Given the description of an element on the screen output the (x, y) to click on. 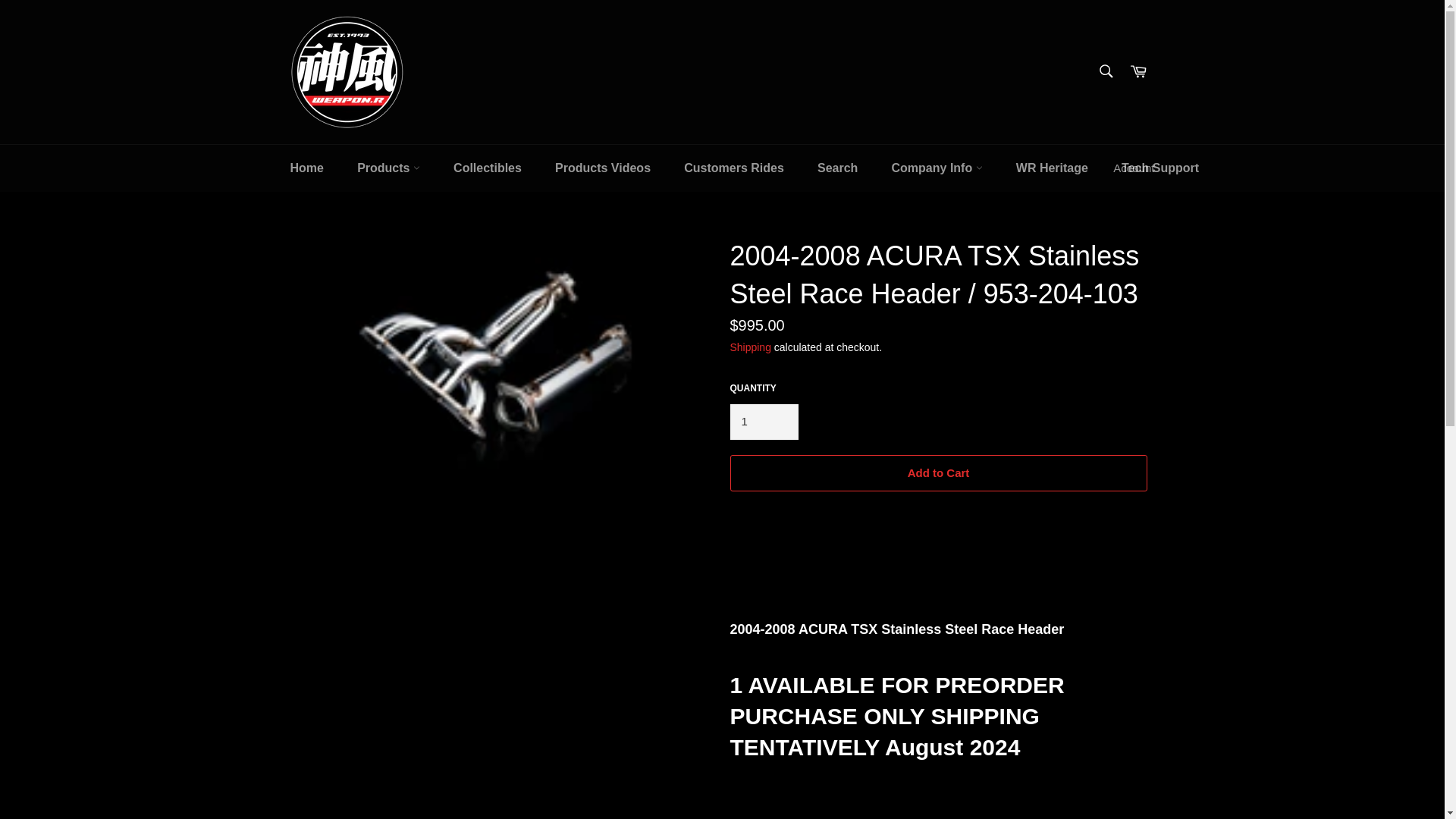
1 (763, 421)
